Given the description of an element on the screen output the (x, y) to click on. 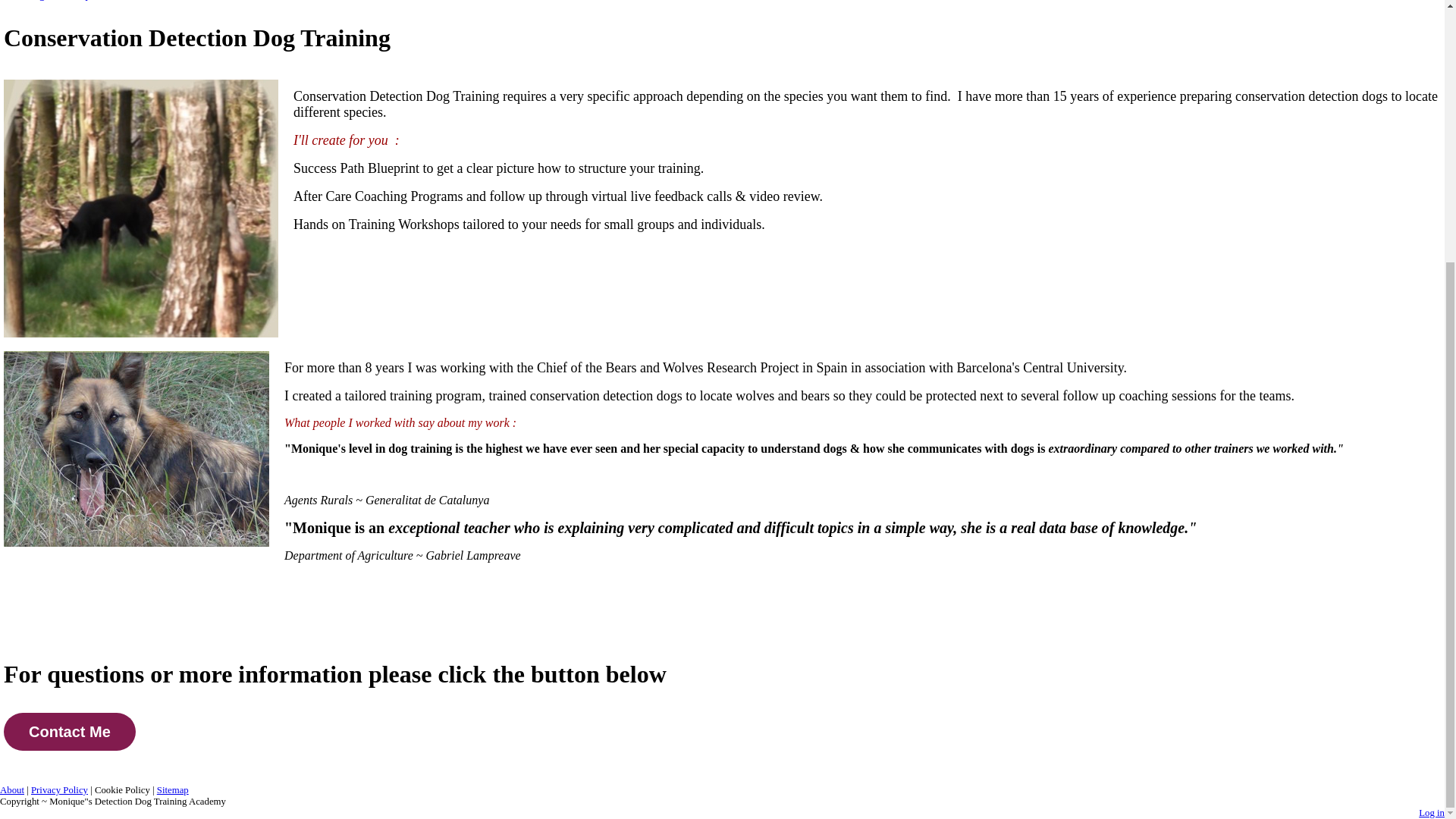
Privacy Policy (58, 789)
About (12, 789)
Cookie Policy (121, 789)
Sitemap (173, 789)
